Given the description of an element on the screen output the (x, y) to click on. 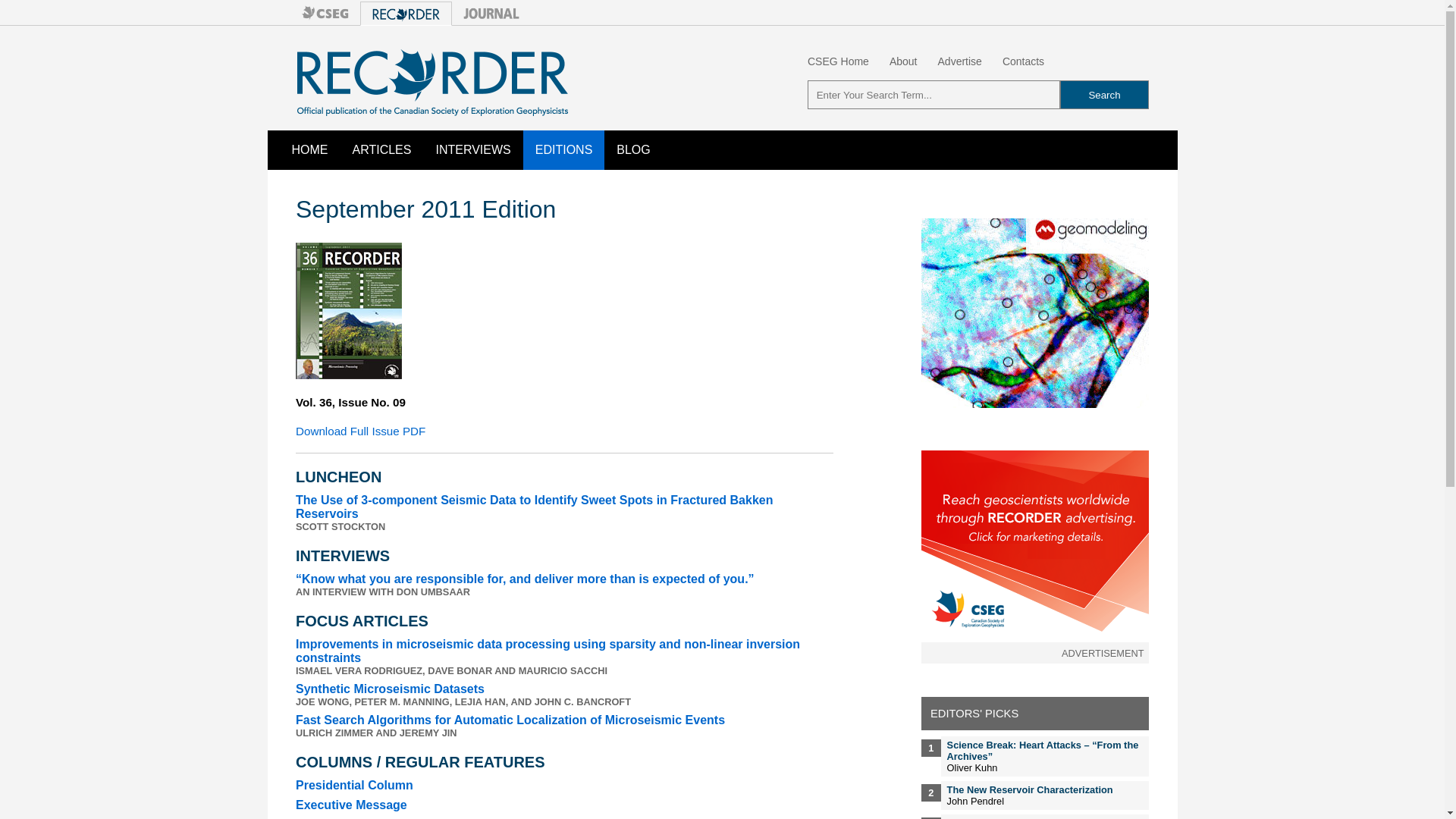
EDITIONS (563, 149)
The New Reservoir Characterization (1030, 789)
About (903, 61)
CSEG Home (838, 61)
Search (1103, 94)
Download Full Issue PDF (360, 431)
